Given the description of an element on the screen output the (x, y) to click on. 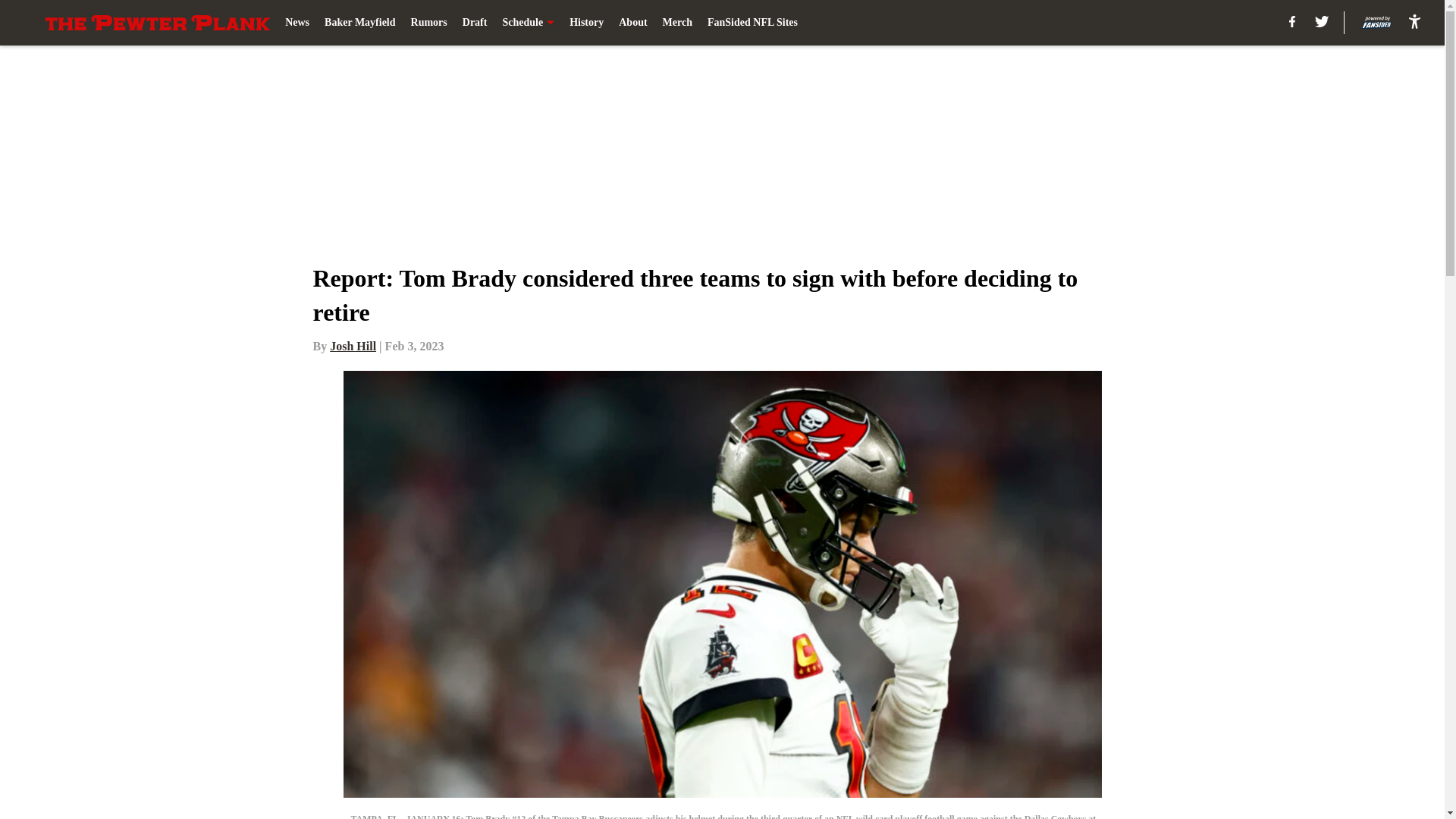
Merch (677, 22)
About (632, 22)
Rumors (428, 22)
Draft (475, 22)
Baker Mayfield (359, 22)
History (586, 22)
Josh Hill (352, 345)
FanSided NFL Sites (752, 22)
News (296, 22)
